Given the description of an element on the screen output the (x, y) to click on. 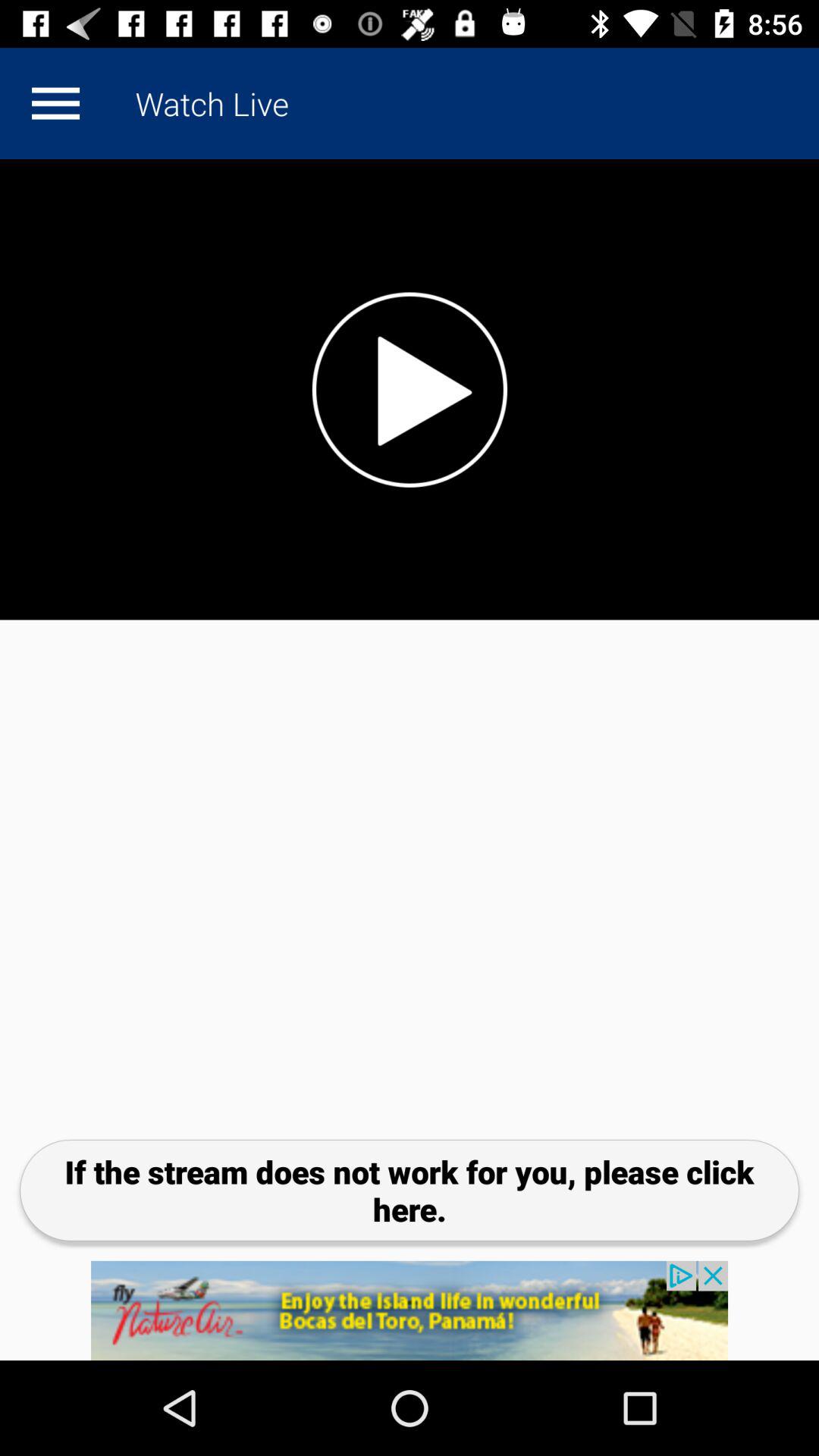
go to pause (409, 389)
